Given the description of an element on the screen output the (x, y) to click on. 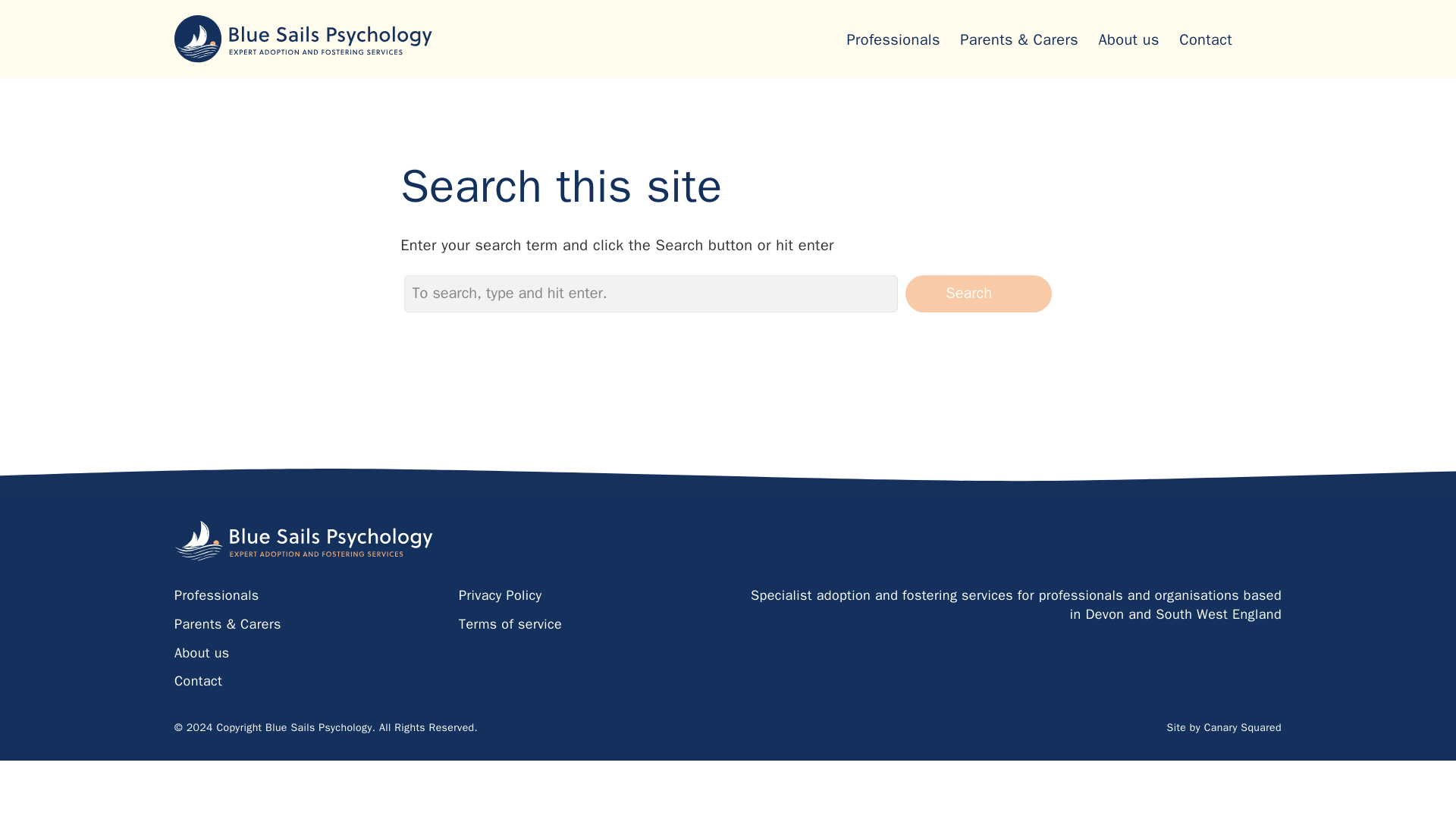
Blue Sails Psychology (303, 540)
Terms of service (510, 623)
Search (978, 293)
Blue Sails Psychology Logo (306, 39)
Professionals (892, 38)
Professionals (216, 595)
Contact (1205, 38)
Contact (198, 680)
Blue Sails Psychology Logo (303, 540)
Canary Squared (1242, 727)
